Given the description of an element on the screen output the (x, y) to click on. 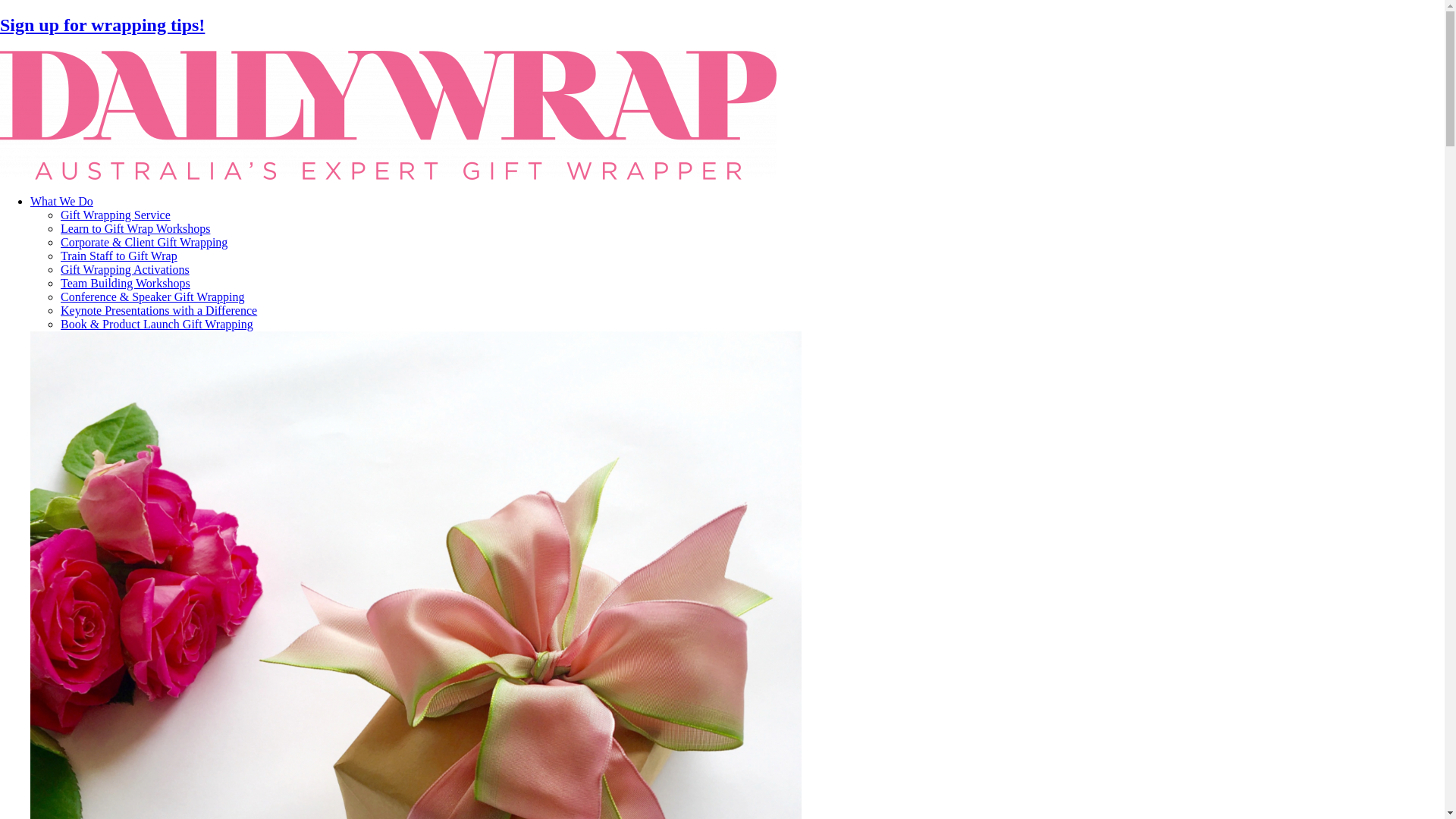
Team Building Workshops Element type: text (125, 282)
Keynote Presentations with a Difference Element type: text (158, 310)
Sign up for wrapping tips! Element type: text (102, 24)
Gift Wrapping Service Element type: text (115, 214)
Train Staff to Gift Wrap Element type: text (118, 255)
Learn to Gift Wrap Workshops Element type: text (135, 228)
Corporate & Client Gift Wrapping Element type: text (143, 241)
Conference & Speaker Gift Wrapping Element type: text (152, 296)
Book & Product Launch Gift Wrapping Element type: text (156, 323)
What We Do Element type: text (737, 201)
Gift Wrapping Activations Element type: text (124, 269)
